Given the description of an element on the screen output the (x, y) to click on. 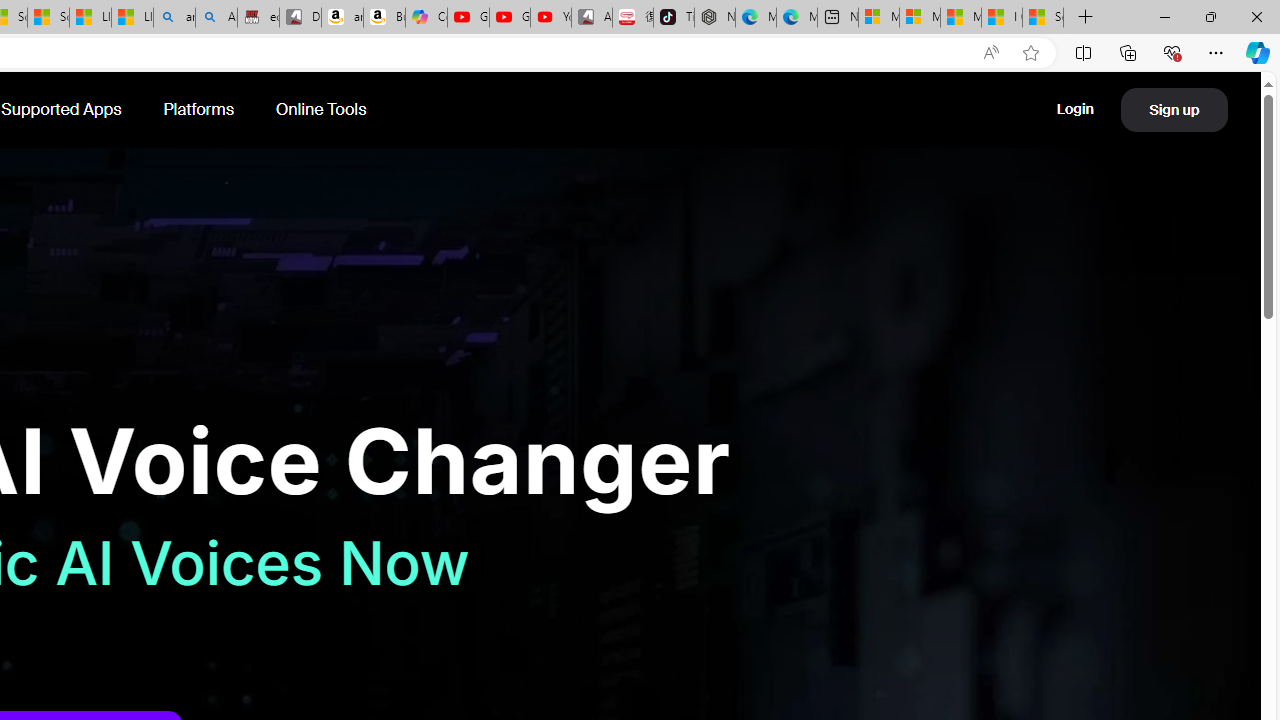
TikTok (673, 17)
amazon.in/dp/B0CX59H5W7/?tag=gsmcom05-21 (342, 17)
